Given the description of an element on the screen output the (x, y) to click on. 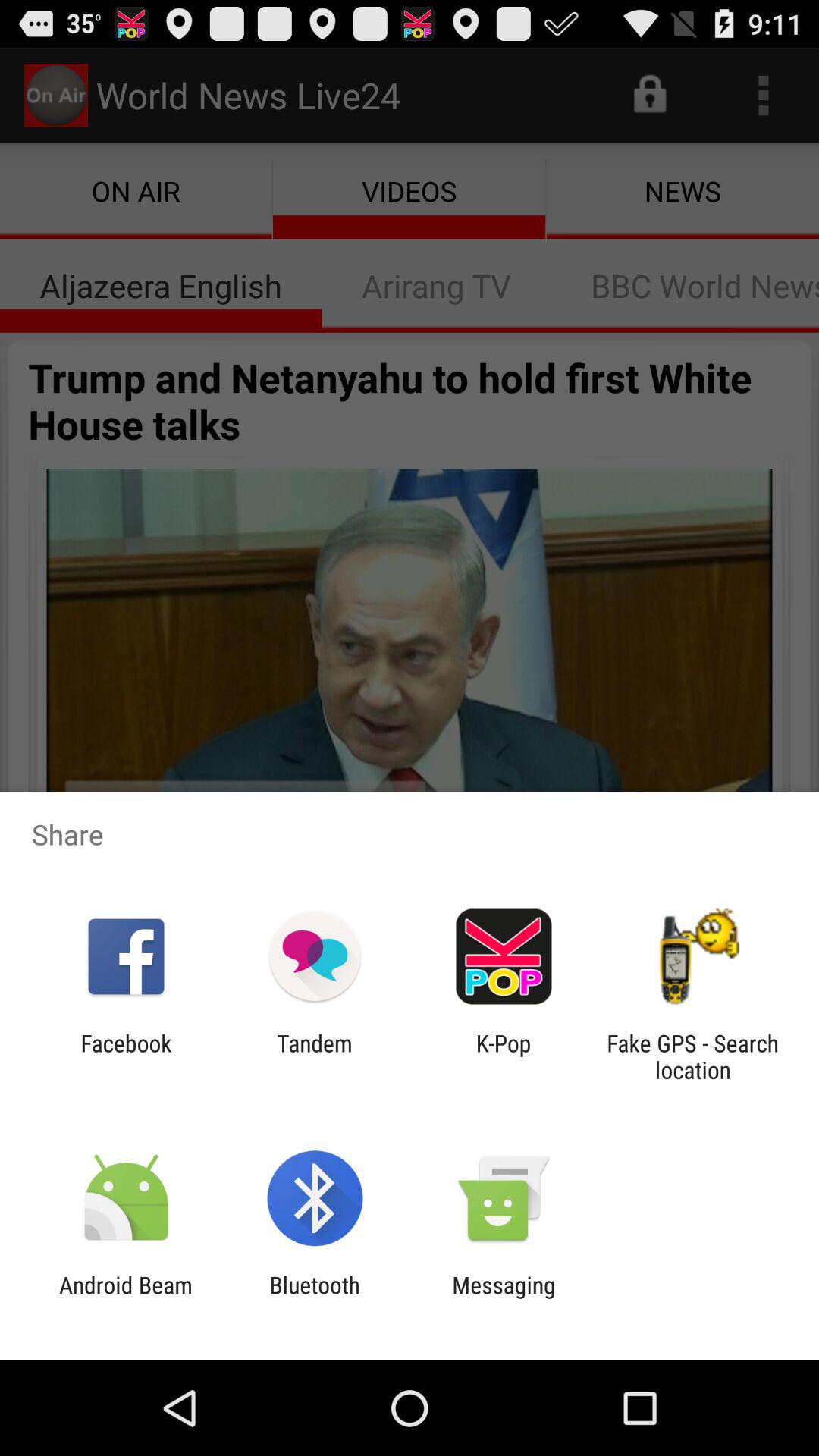
press the item to the right of the tandem app (503, 1056)
